Given the description of an element on the screen output the (x, y) to click on. 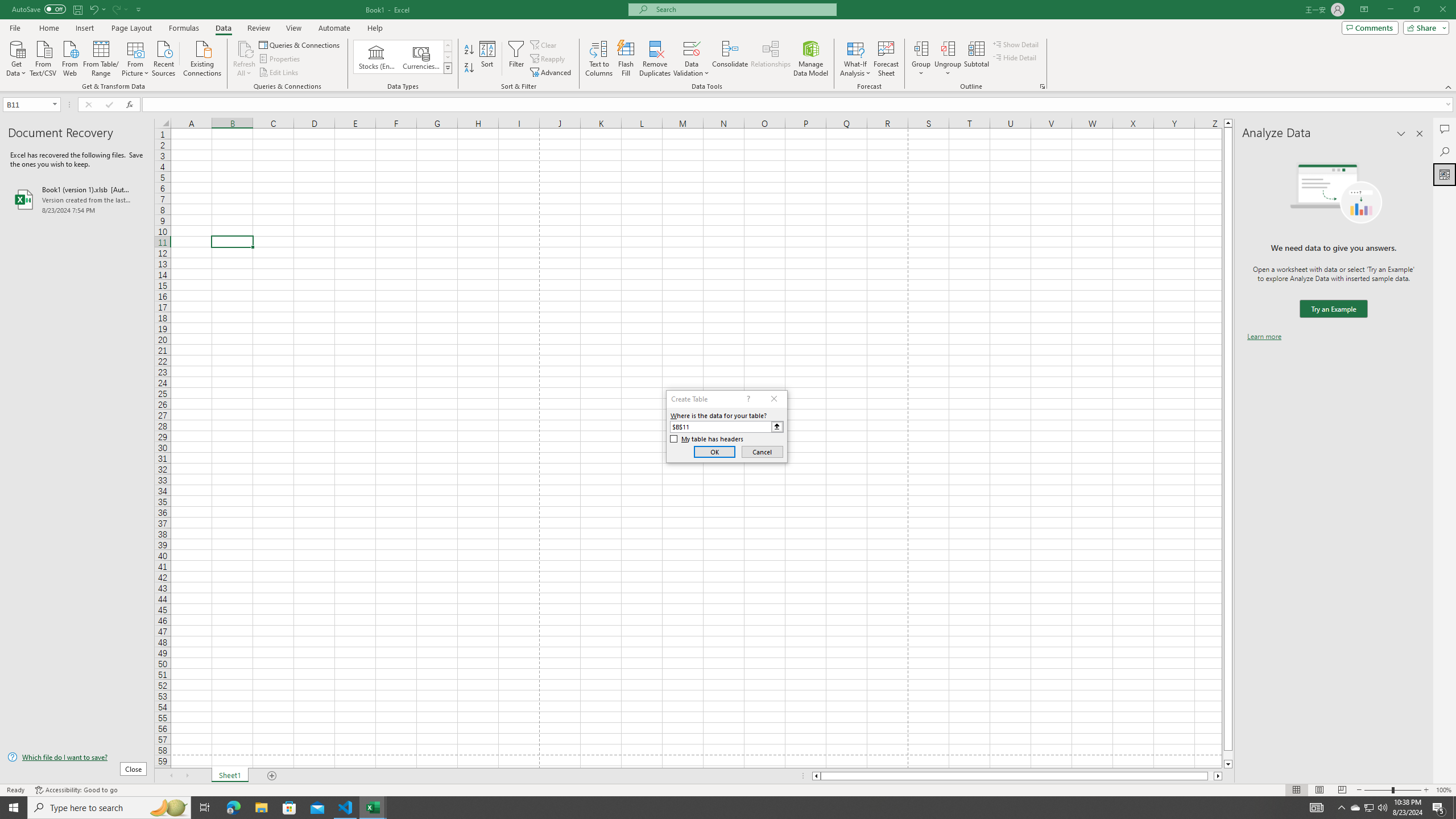
Page right (1211, 775)
Group and Outline Settings (1042, 85)
Row up (448, 45)
Text to Columns... (598, 58)
We need data to give you answers. Try an Example (1333, 308)
Page down (1228, 755)
From Web (69, 57)
Class: MsoCommandBar (728, 45)
